Given the description of an element on the screen output the (x, y) to click on. 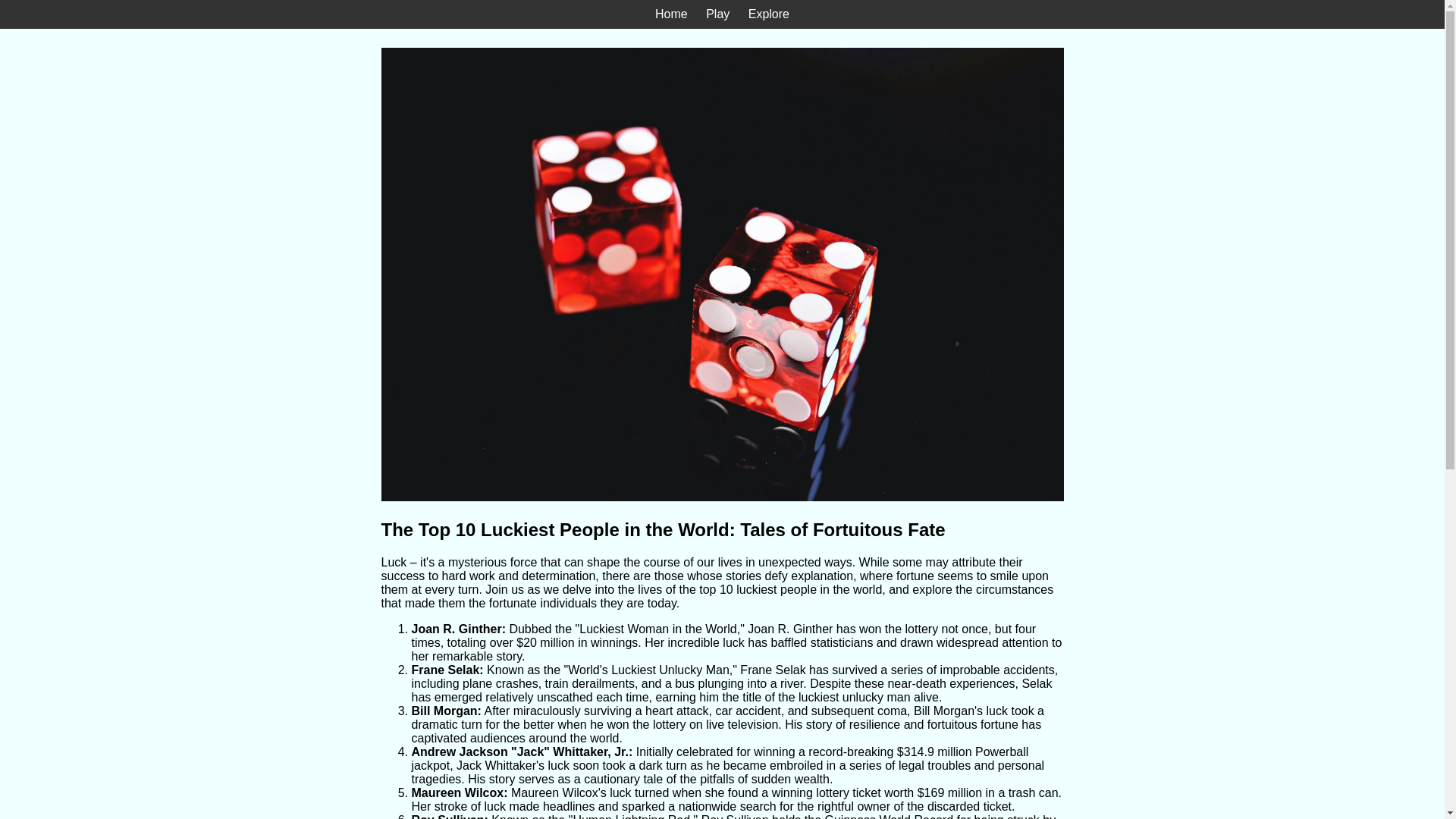
Play (717, 13)
Home (671, 13)
Explore (768, 13)
